Given the description of an element on the screen output the (x, y) to click on. 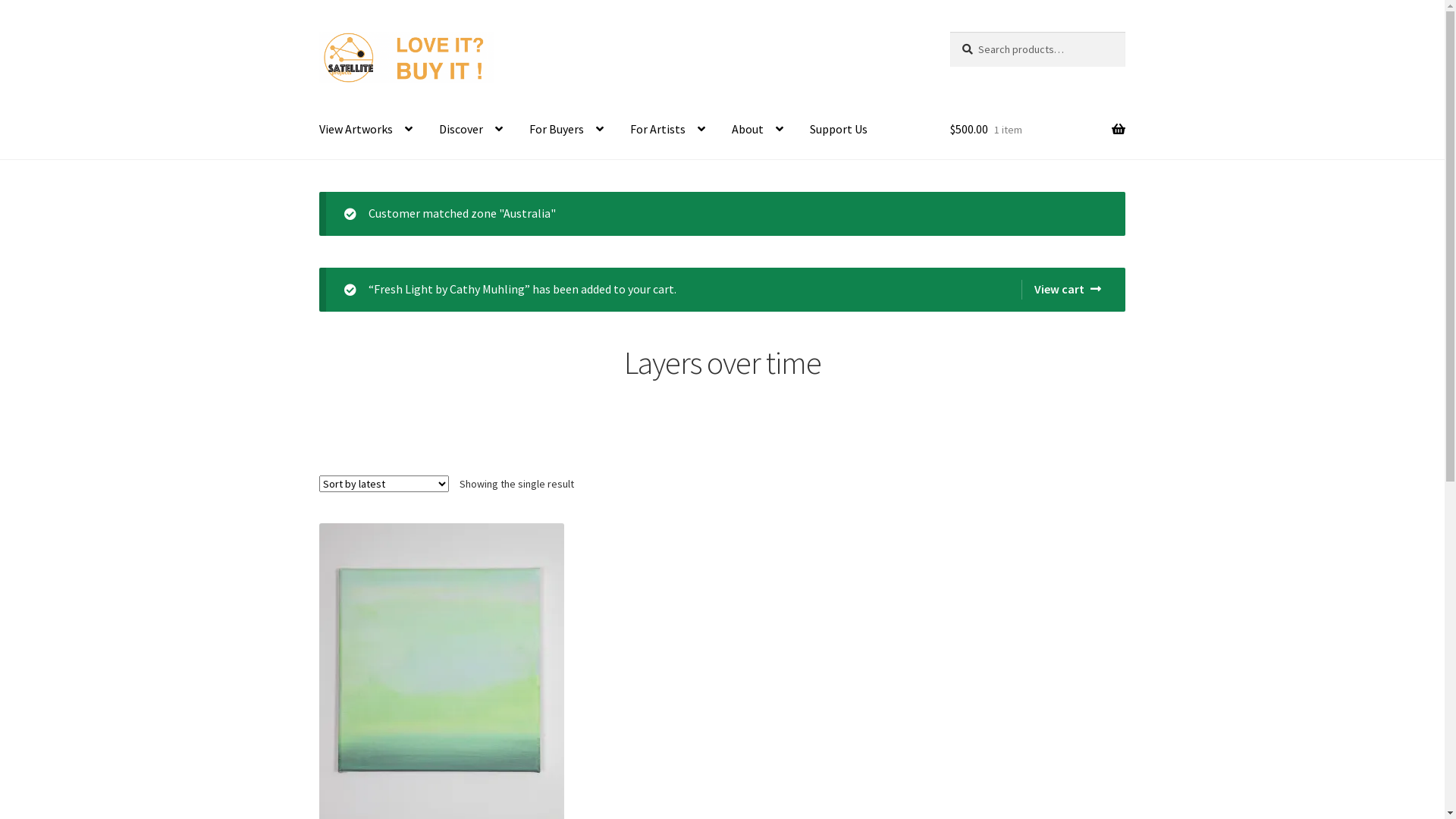
Discover Element type: text (470, 130)
Search Element type: text (949, 31)
For Buyers Element type: text (566, 130)
View cart Element type: text (1061, 289)
$500.00 1 item Element type: text (1037, 130)
View Artworks Element type: text (365, 130)
For Artists Element type: text (667, 130)
About Element type: text (757, 130)
Skip to navigation Element type: text (318, 31)
Support Us Element type: text (838, 130)
